Given the description of an element on the screen output the (x, y) to click on. 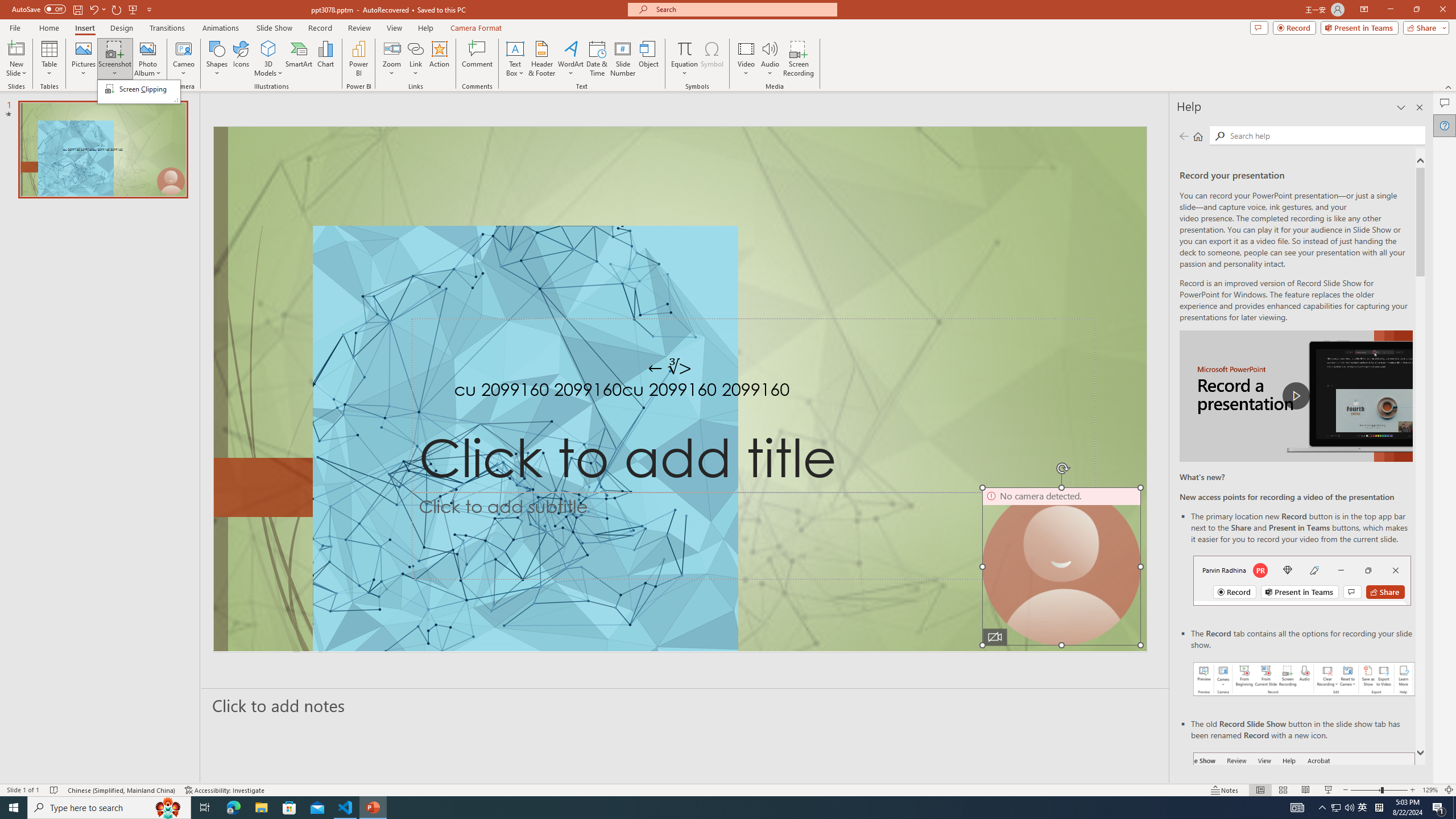
Object... (649, 58)
Zoom 129% (1430, 790)
Record your presentations screenshot one (1304, 678)
Header & Footer... (541, 58)
Comment (476, 58)
